Given the description of an element on the screen output the (x, y) to click on. 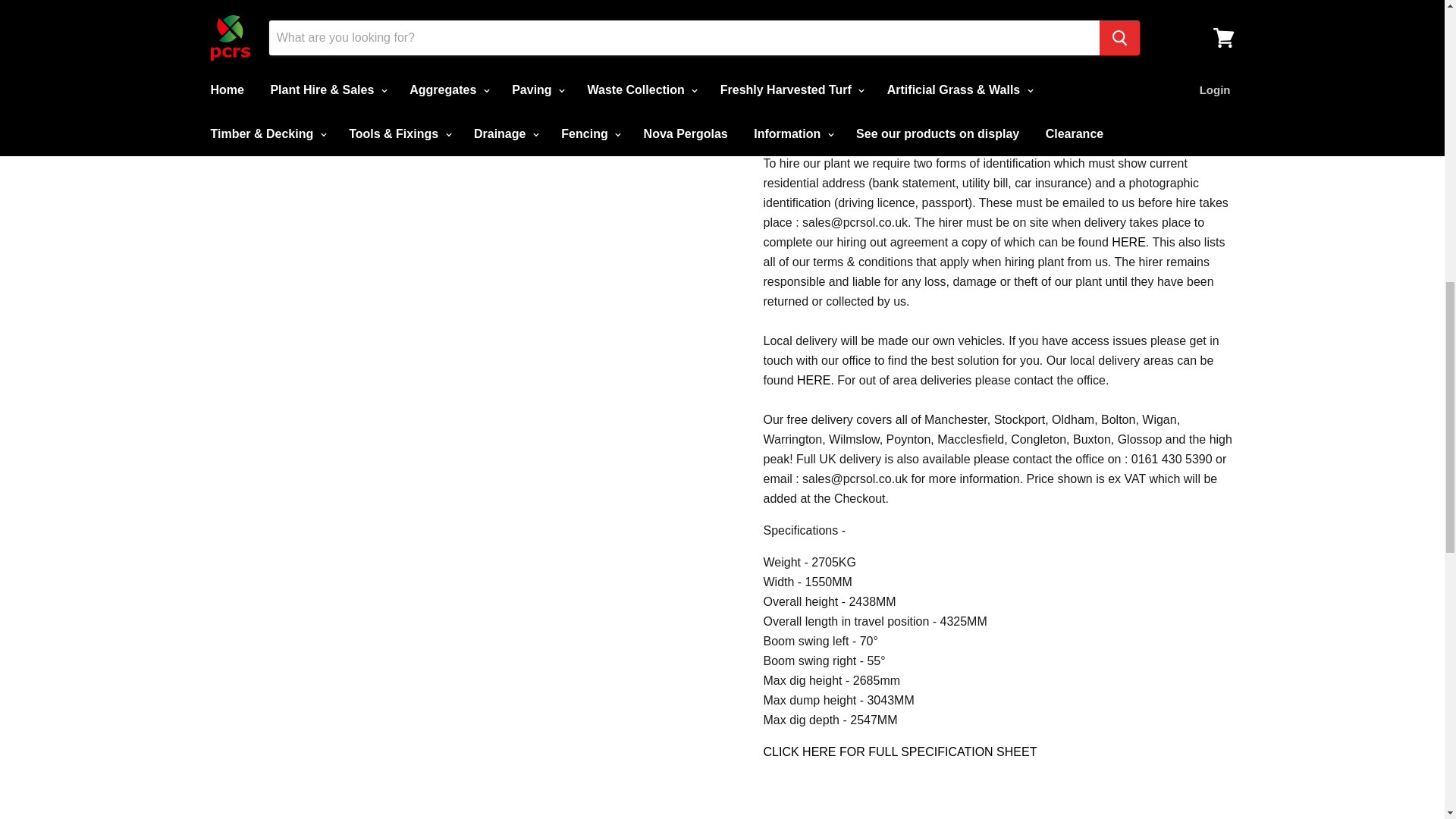
PCRS DELIVERY ZONES (812, 379)
